Given the description of an element on the screen output the (x, y) to click on. 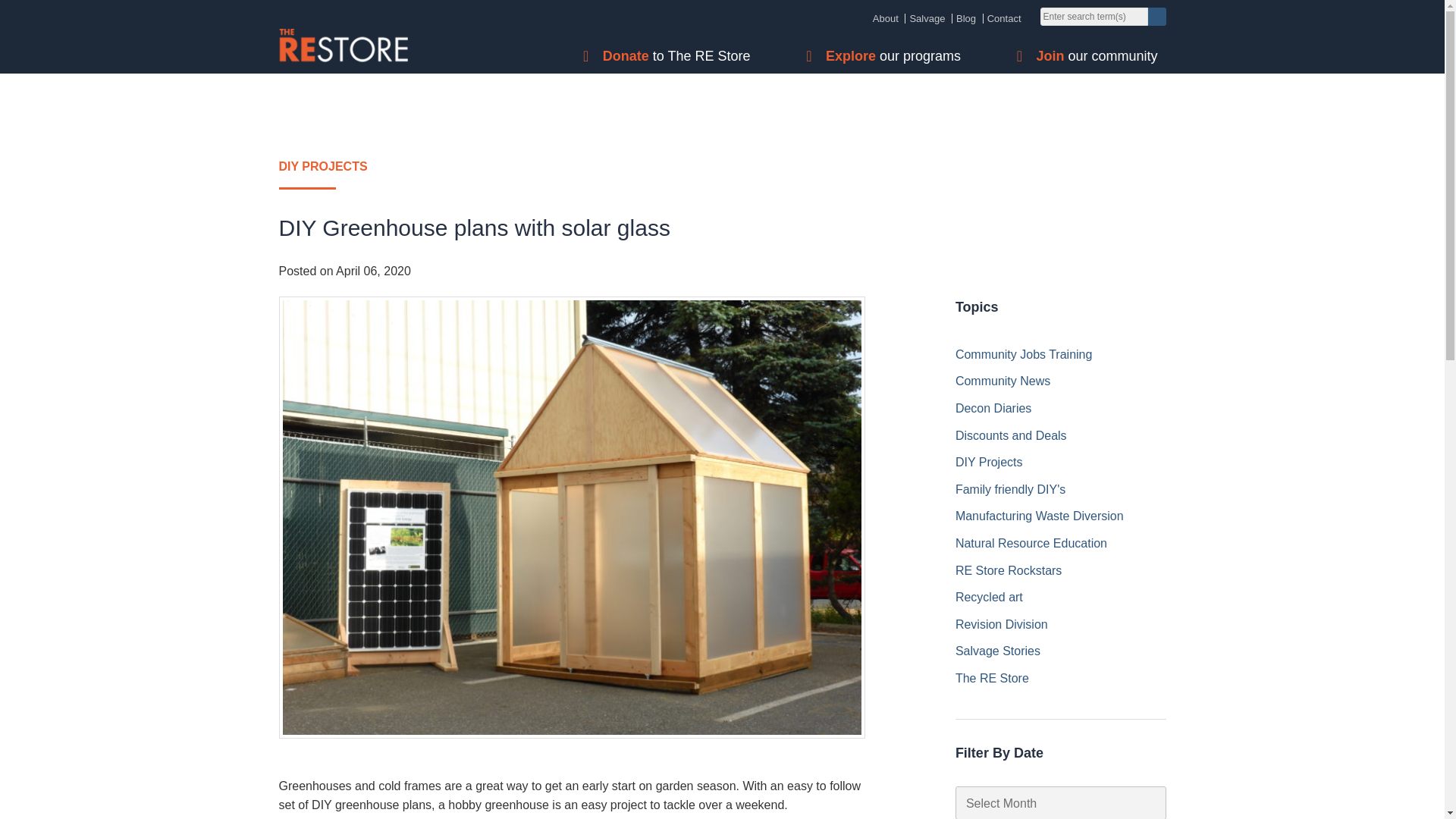
Search (1157, 16)
Explore our programs (897, 55)
About (885, 18)
Contact (1004, 18)
DIY PROJECTS (722, 172)
Donate to The RE Store (680, 55)
Blog (965, 18)
Salvage (926, 18)
Join our community (1100, 55)
